Given the description of an element on the screen output the (x, y) to click on. 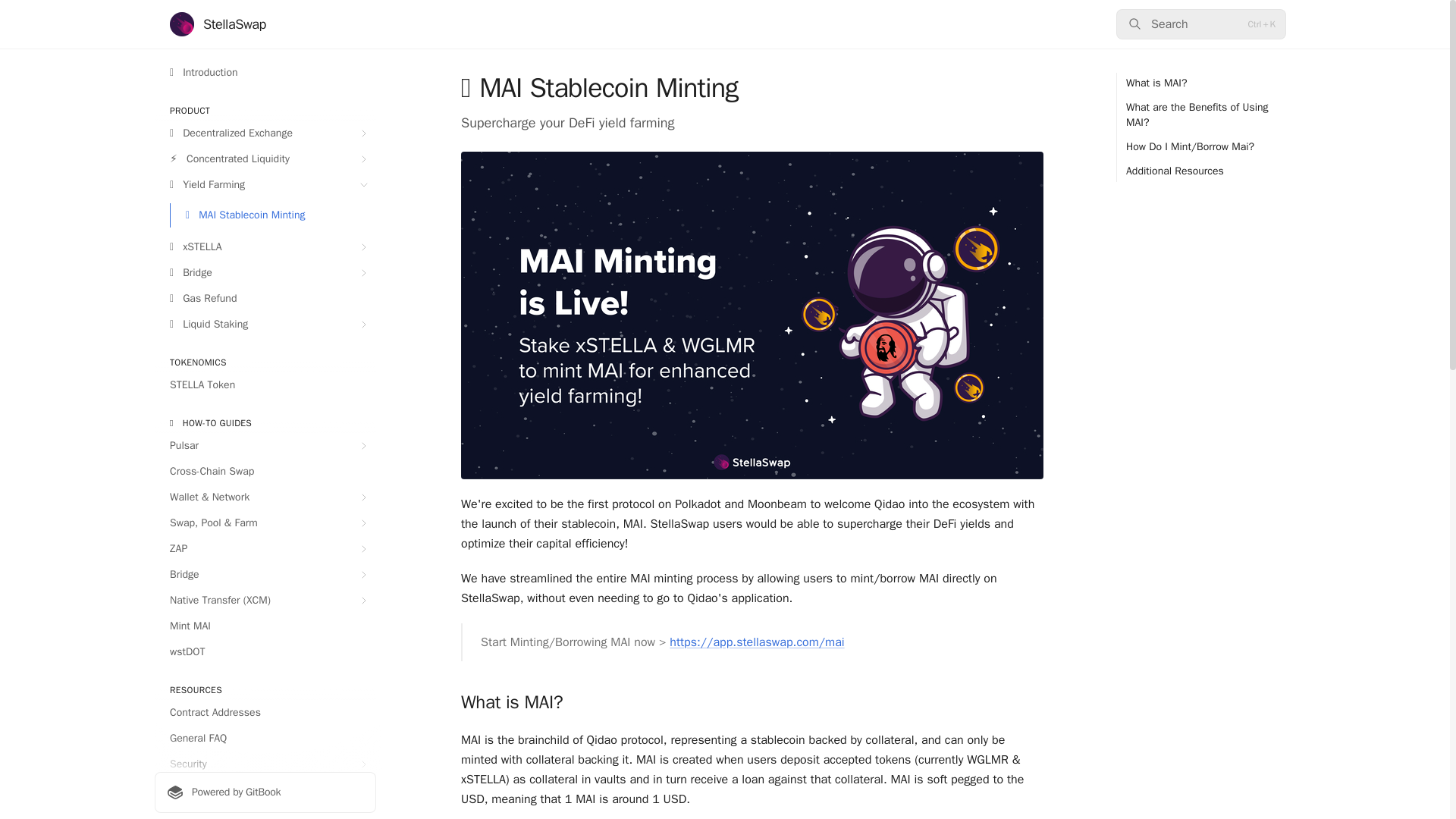
STELLA Token (264, 385)
Pulsar (264, 445)
StellaSwap (218, 24)
Cross-Chain Swap (264, 471)
